Given the description of an element on the screen output the (x, y) to click on. 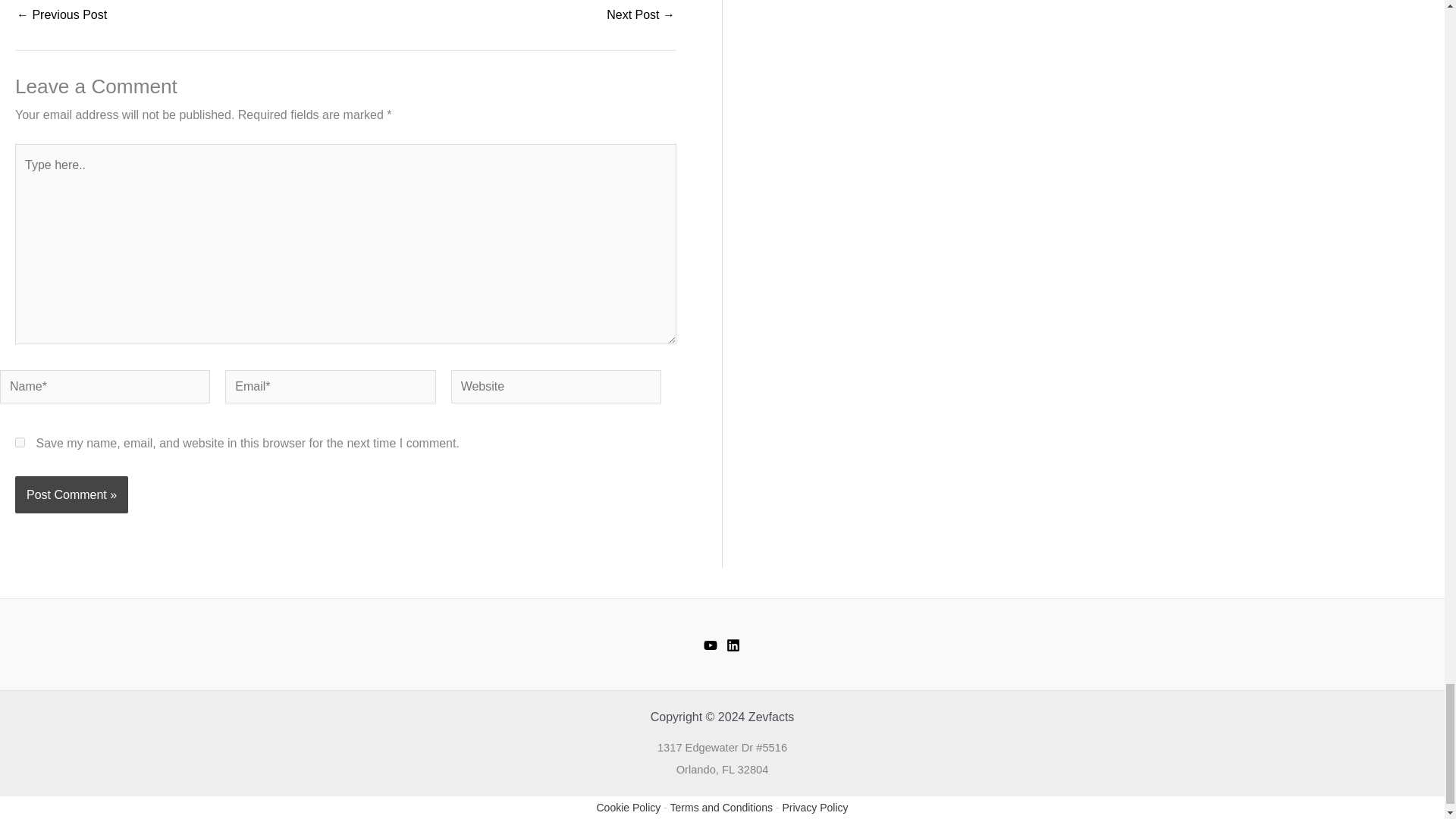
How Many Amps Are Needed To Charge An Electric Car? (641, 15)
yes (19, 442)
Is Tesla A Tech Company? (61, 15)
